Given the description of an element on the screen output the (x, y) to click on. 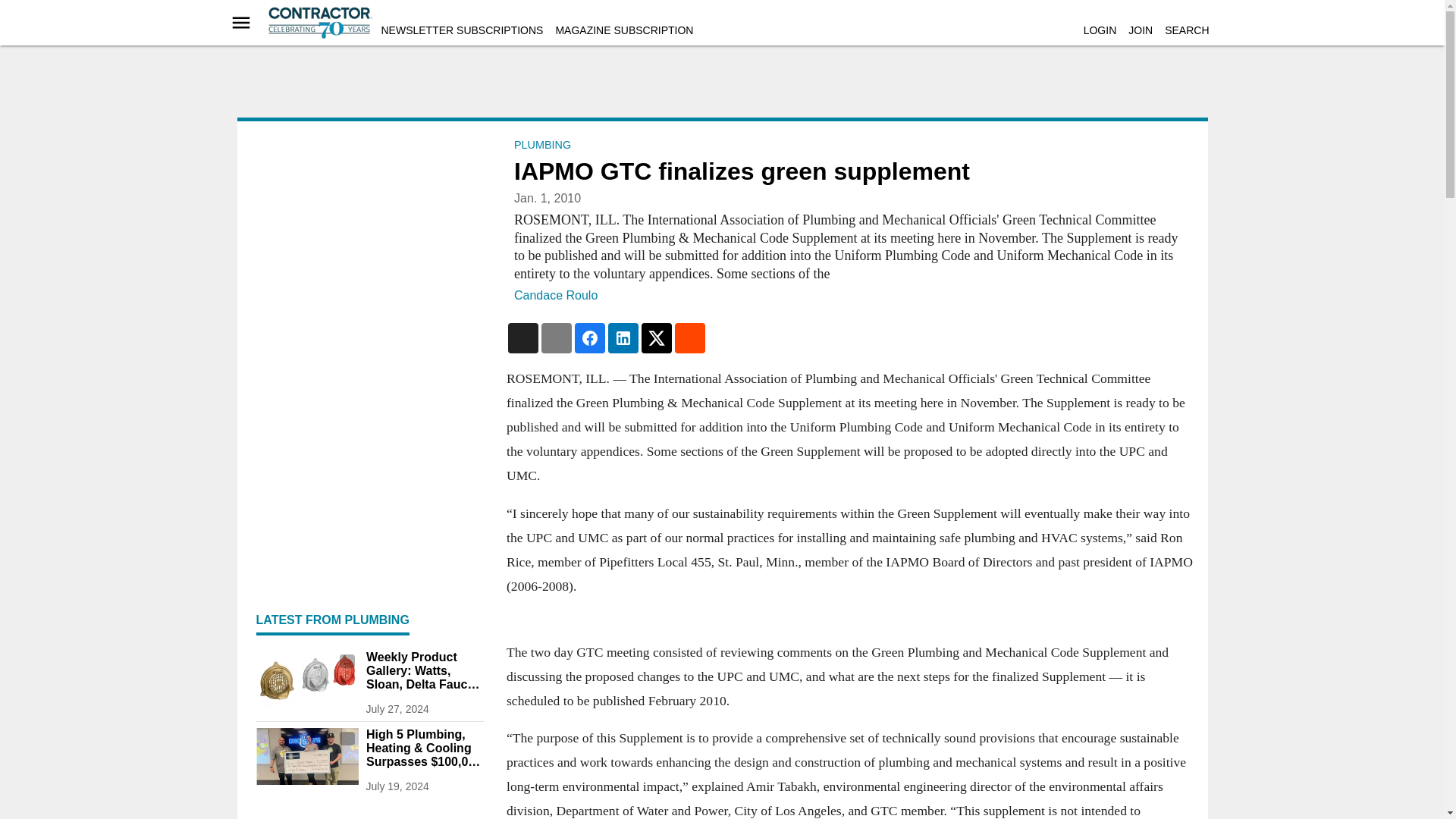
NEWSLETTER SUBSCRIPTIONS (461, 30)
MAGAZINE SUBSCRIPTION (623, 30)
JOIN (1140, 30)
LOGIN (1099, 30)
SEARCH (1186, 30)
